Given the description of an element on the screen output the (x, y) to click on. 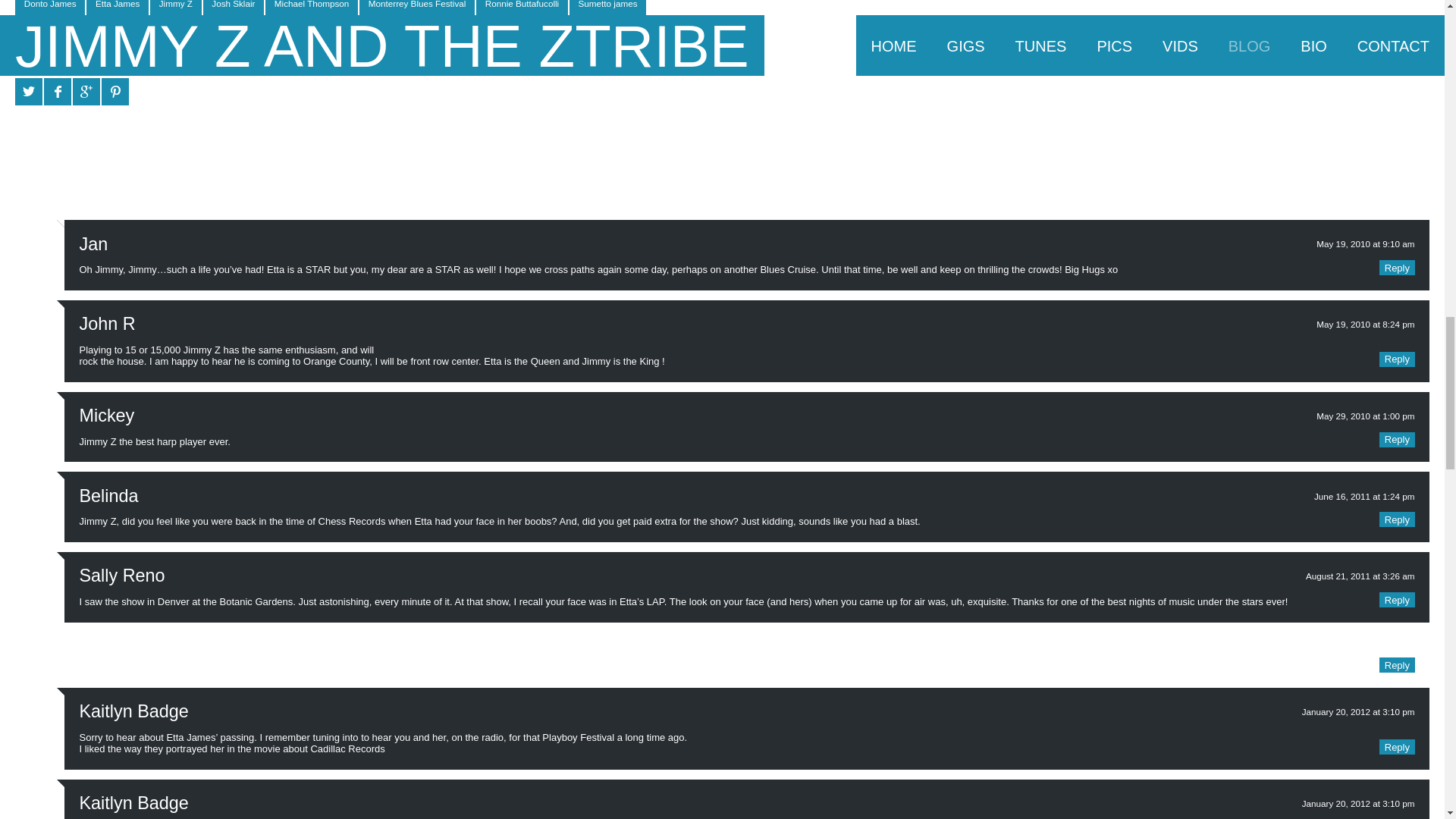
Sumetto james (607, 7)
Josh Sklair (233, 7)
Monterrey Blues Festival (416, 7)
Reply (1395, 359)
Michael Thompson (311, 7)
Donto James (49, 7)
May 19, 2010 at 9:10 am (1364, 244)
Etta James (116, 7)
Ronnie Buttafucolli (521, 7)
Reply (1395, 267)
May 19, 2010 at 8:24 pm (1364, 324)
Tweet This (28, 91)
Share on Facebook (57, 91)
Jimmy Z (175, 7)
Pin it (115, 91)
